Given the description of an element on the screen output the (x, y) to click on. 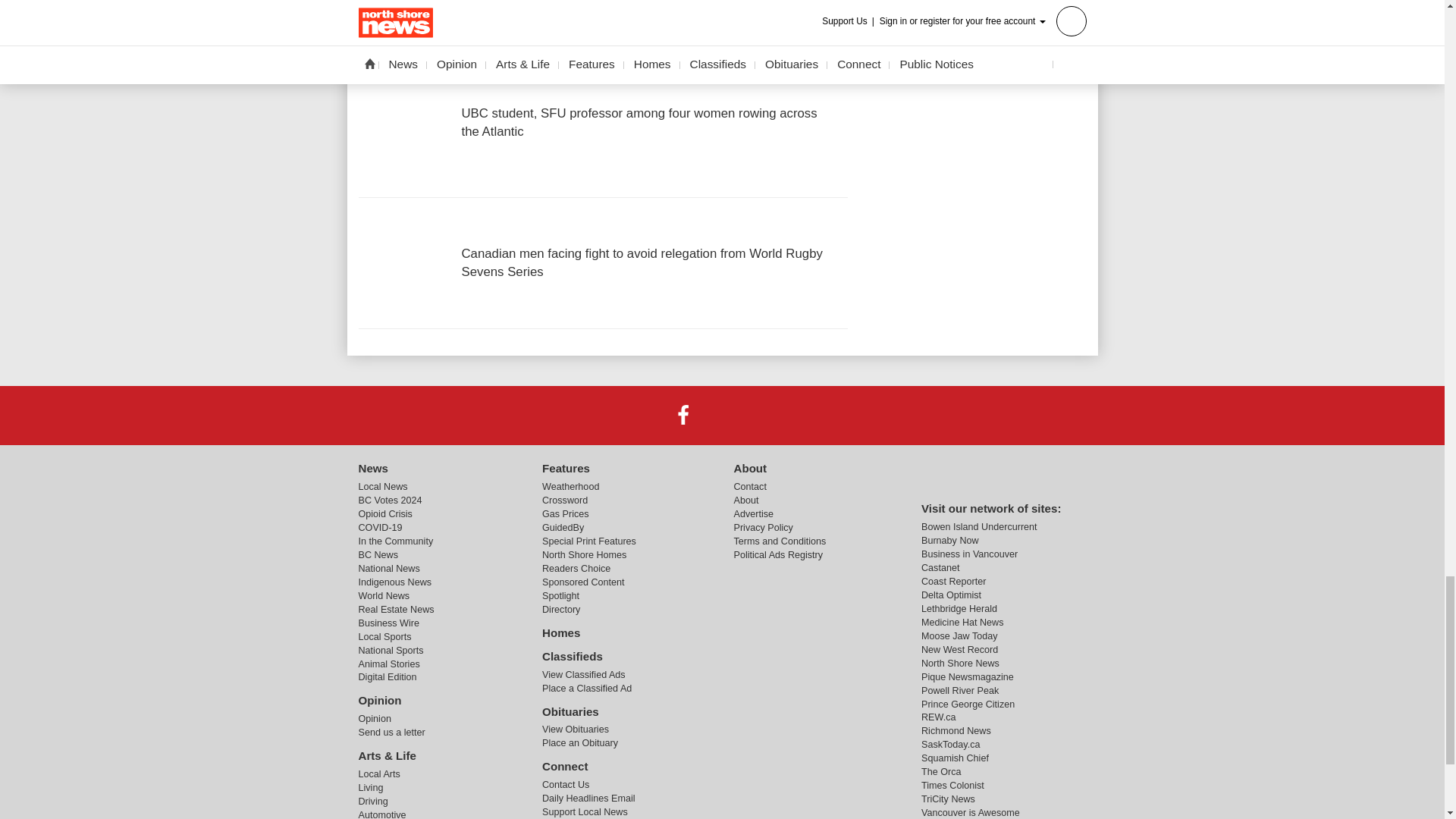
Instagram (760, 414)
X (721, 414)
Facebook (683, 414)
